Given the description of an element on the screen output the (x, y) to click on. 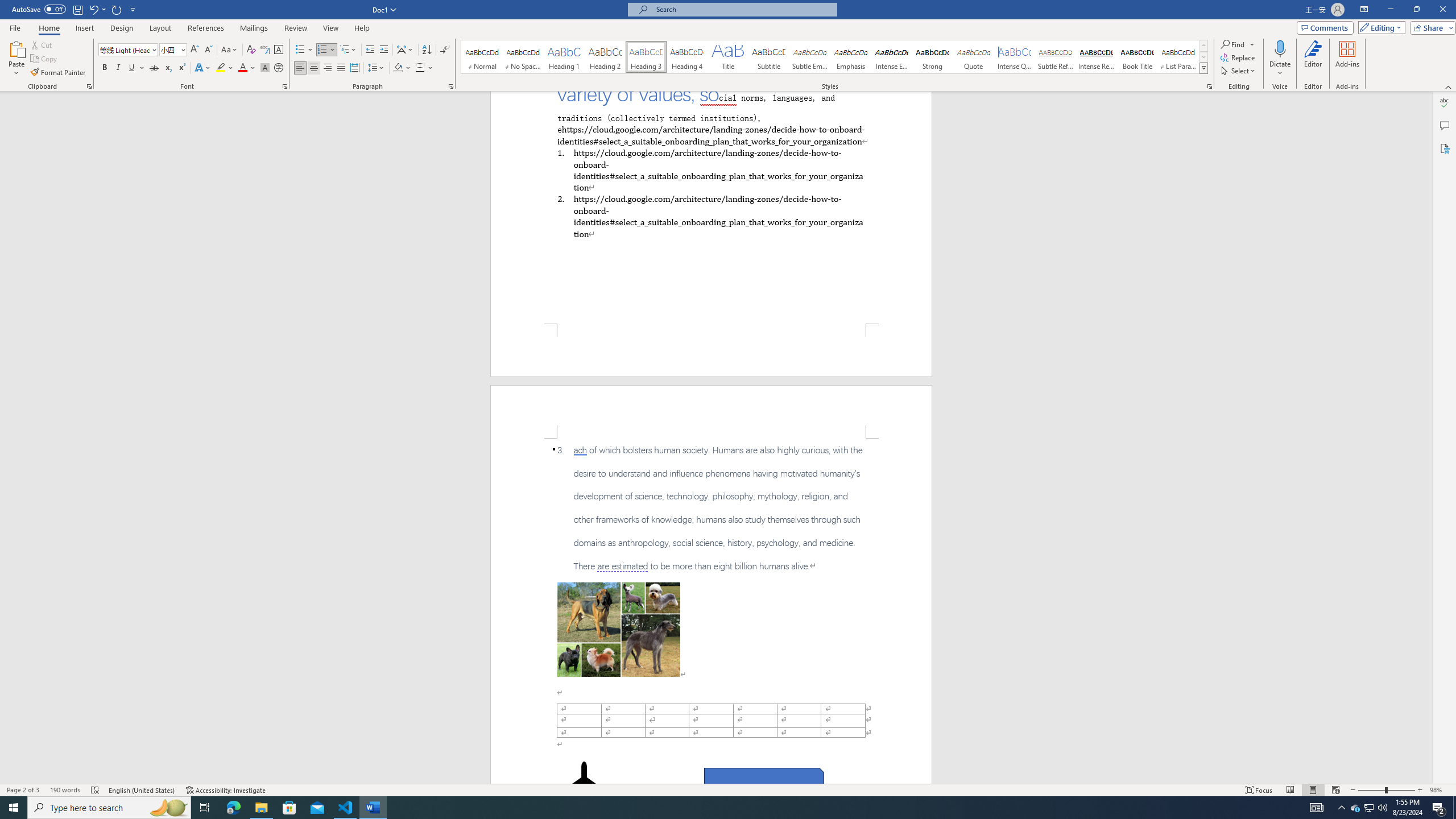
Intense Emphasis (891, 56)
Editing (1379, 27)
Page Number Page 2 of 3 (22, 790)
Page 1 content (710, 207)
Repeat Paragraph Alignment (117, 9)
